Given the description of an element on the screen output the (x, y) to click on. 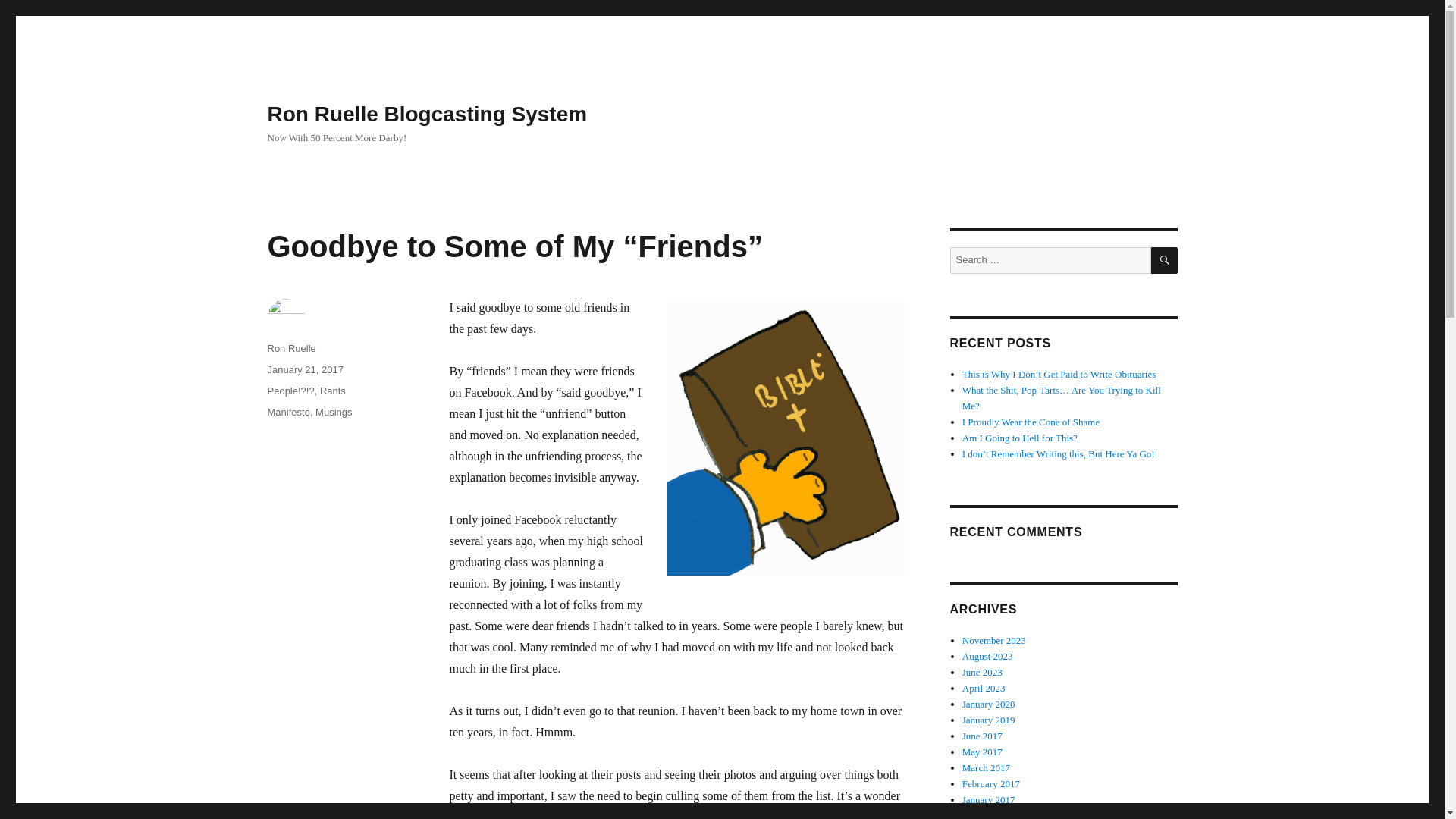
Manifesto (287, 411)
May 2017 (982, 751)
I Proudly Wear the Cone of Shame (1030, 421)
March 2017 (986, 767)
January 2017 (988, 799)
January 2020 (988, 704)
SEARCH (1164, 260)
Rants (333, 390)
February 2017 (991, 783)
January 21, 2017 (304, 369)
April 2023 (984, 687)
Ron Ruelle (290, 348)
Am I Going to Hell for This? (1019, 437)
August 2023 (987, 655)
Musings (333, 411)
